Given the description of an element on the screen output the (x, y) to click on. 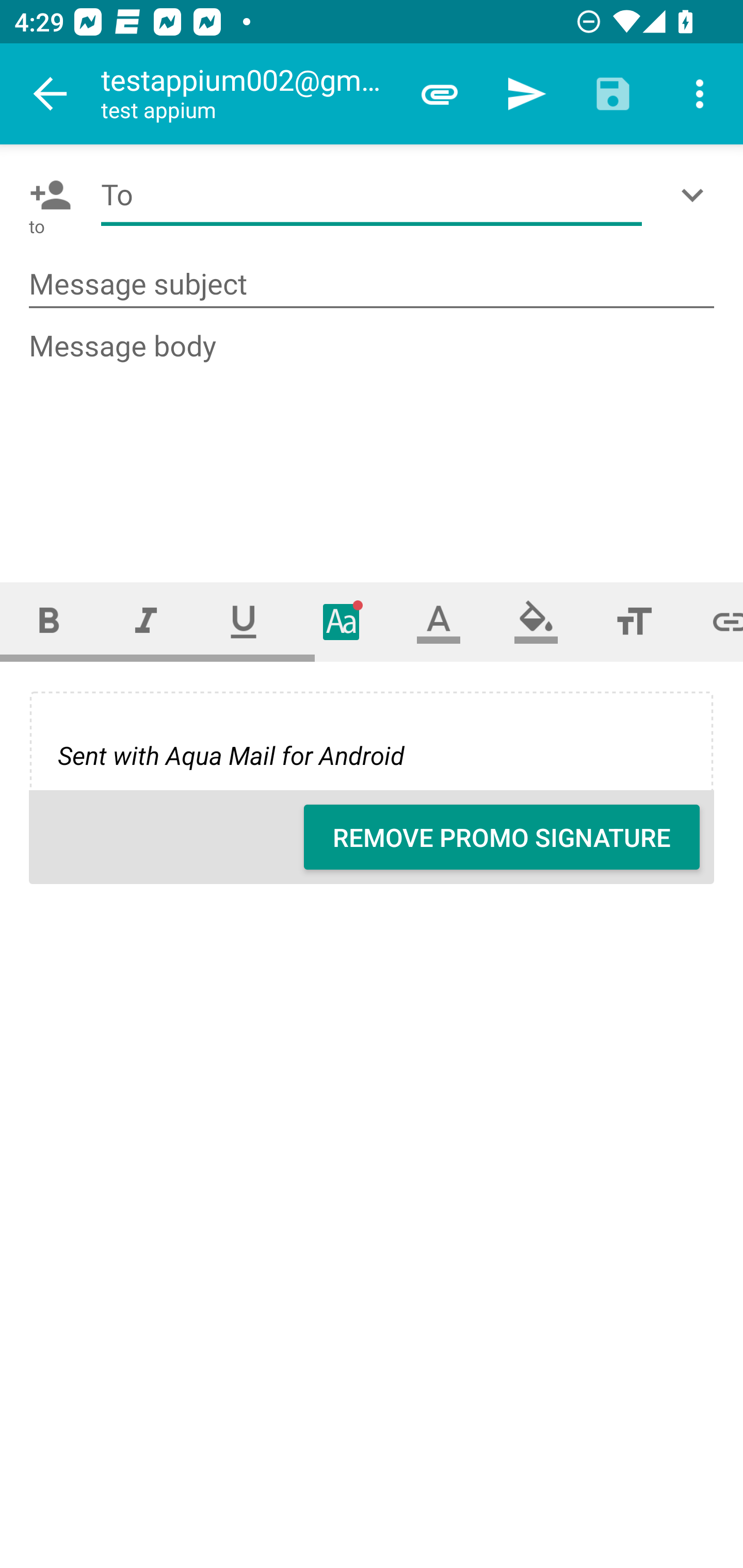
Navigate up (50, 93)
testappium002@gmail.com test appium (248, 93)
Attach (439, 93)
Send (525, 93)
Save (612, 93)
More options (699, 93)
Pick contact: To (46, 195)
Show/Add CC/BCC (696, 195)
To (371, 195)
Message subject (371, 284)
Bold (48, 621)
Italic (145, 621)
Underline (243, 621)
Typeface (font) (341, 621)
Text color (438, 621)
Fill color (536, 621)
Font size (633, 621)
Set link (712, 621)
REMOVE PROMO SIGNATURE (501, 837)
